Given the description of an element on the screen output the (x, y) to click on. 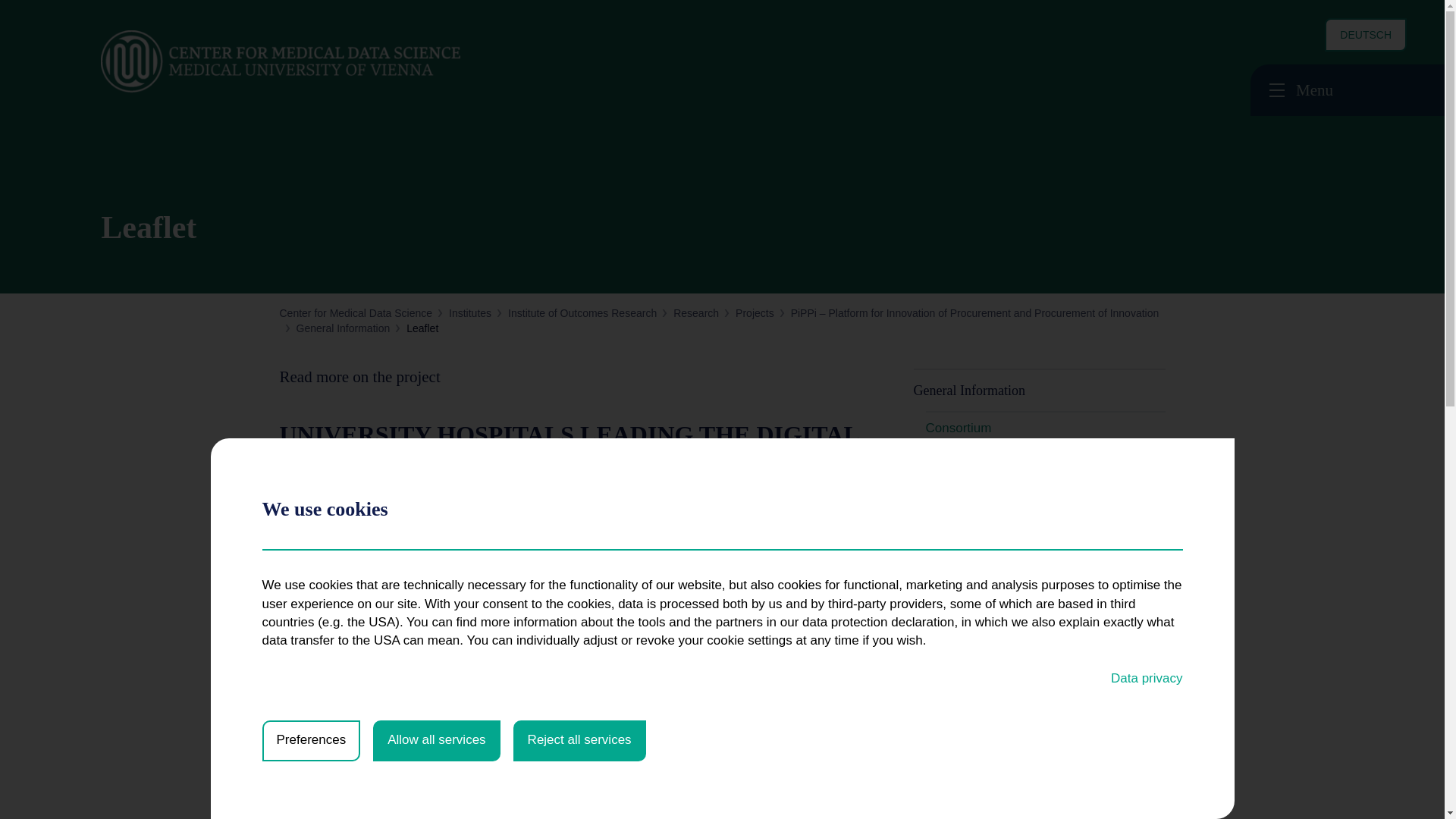
Research (695, 313)
Center for Medical Data Science (312, 62)
Center for Medical Data Science (328, 62)
Institute of Outcomes Research (582, 313)
DEUTSCH (1365, 34)
Click to open the leaflet (380, 778)
Consortium (957, 427)
Institute of Outcomes Research (582, 313)
General Information (342, 328)
Work Packages (969, 461)
Projects (754, 313)
Center for Medical Data Science (355, 313)
Center for Medical Data Science (355, 313)
